Given the description of an element on the screen output the (x, y) to click on. 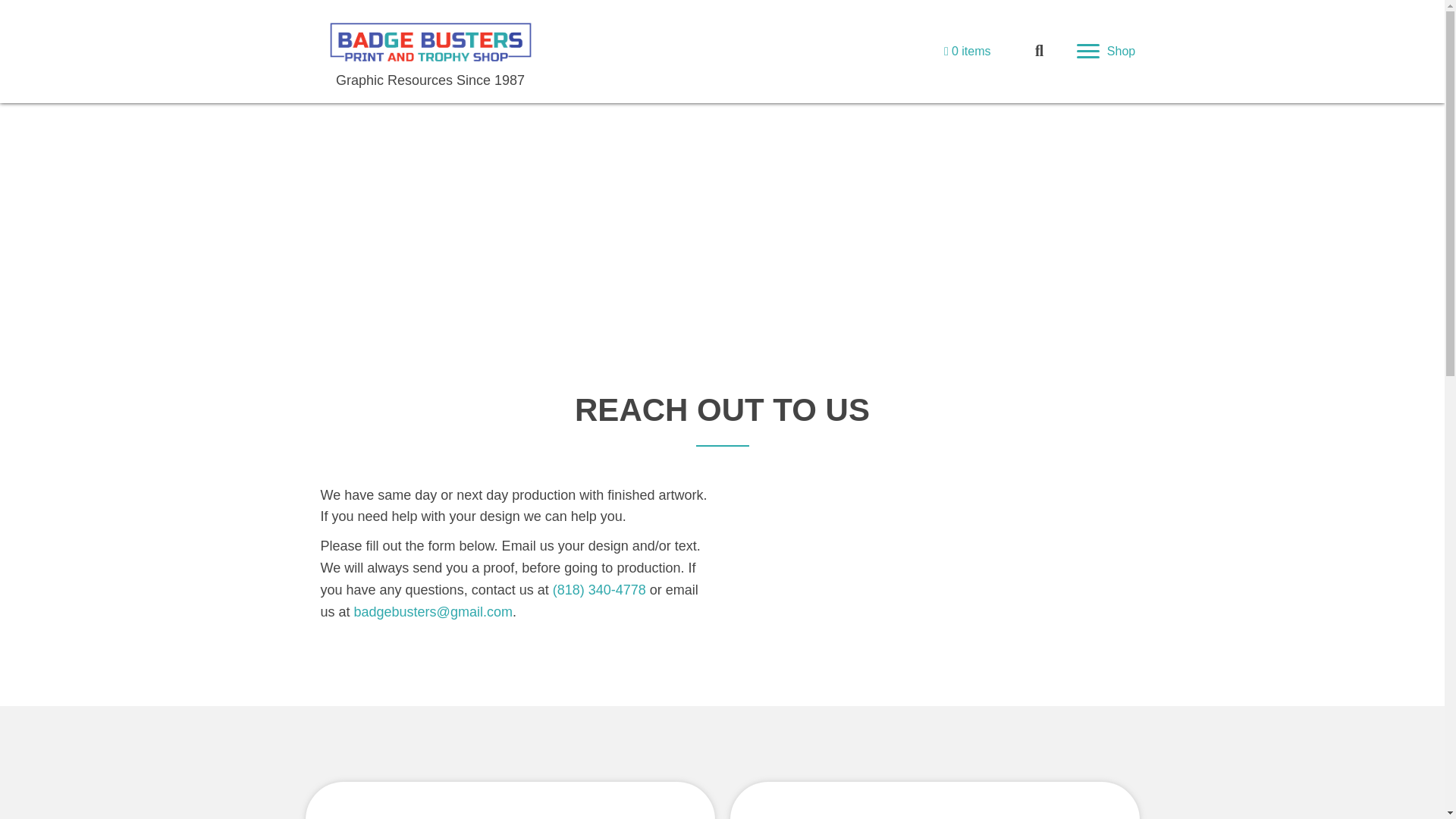
Shop (1105, 51)
Badge Busters Print and Trophy Shop (430, 42)
Start shopping (966, 51)
Graphic Resources Since 1987 (430, 79)
0 items (966, 51)
